Given the description of an element on the screen output the (x, y) to click on. 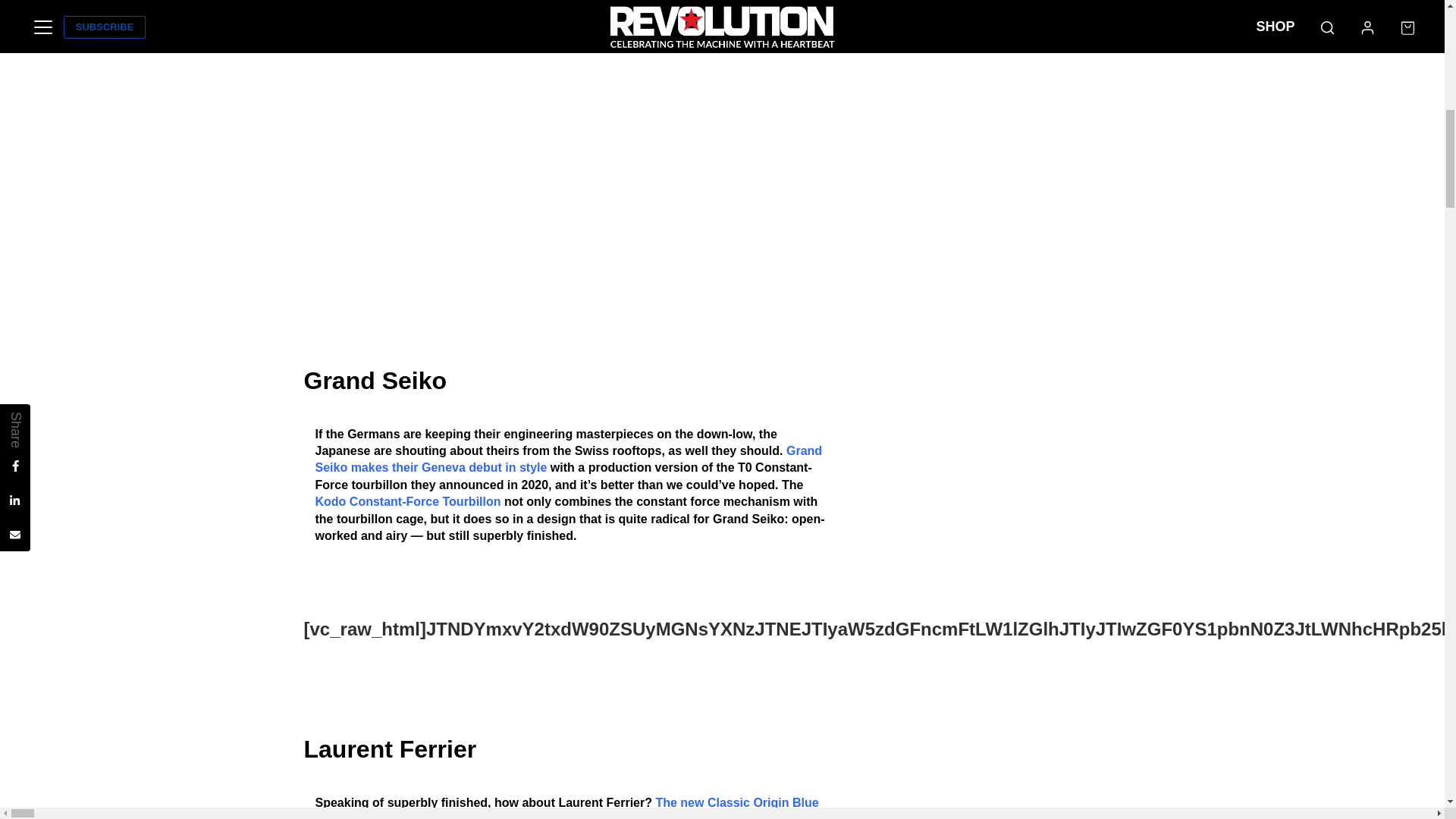
Grand Seiko makes their Geneva debut in style (568, 459)
Kodo Constant-Force Tourbillon (407, 501)
The new Classic Origin Blue (736, 802)
